Given the description of an element on the screen output the (x, y) to click on. 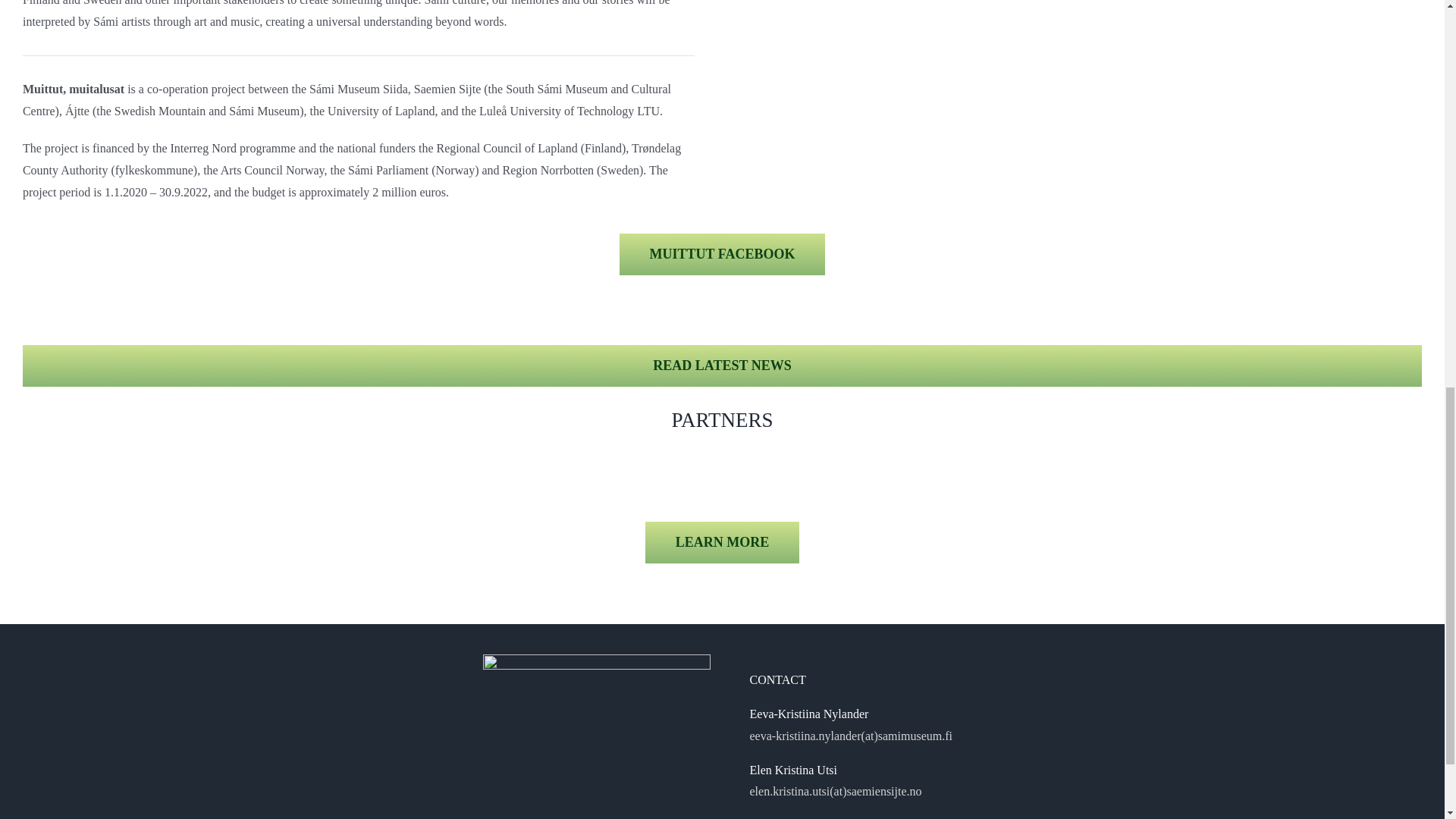
READ LATEST NEWS (722, 365)
LEARN MORE (722, 542)
MUITTUT FACEBOOK (722, 254)
